Given the description of an element on the screen output the (x, y) to click on. 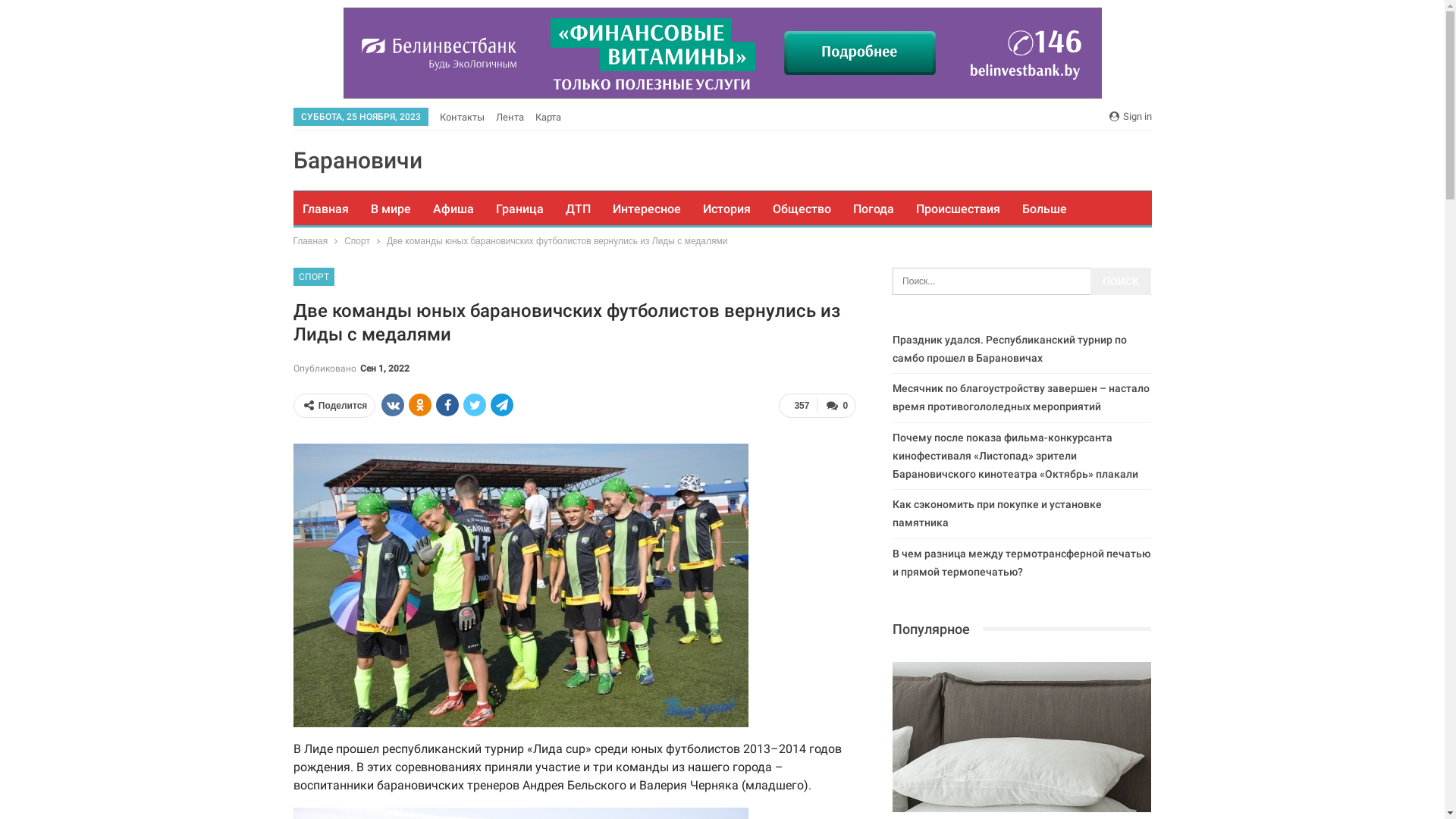
0 Element type: text (836, 405)
Sign in Element type: text (1129, 116)
